Given the description of an element on the screen output the (x, y) to click on. 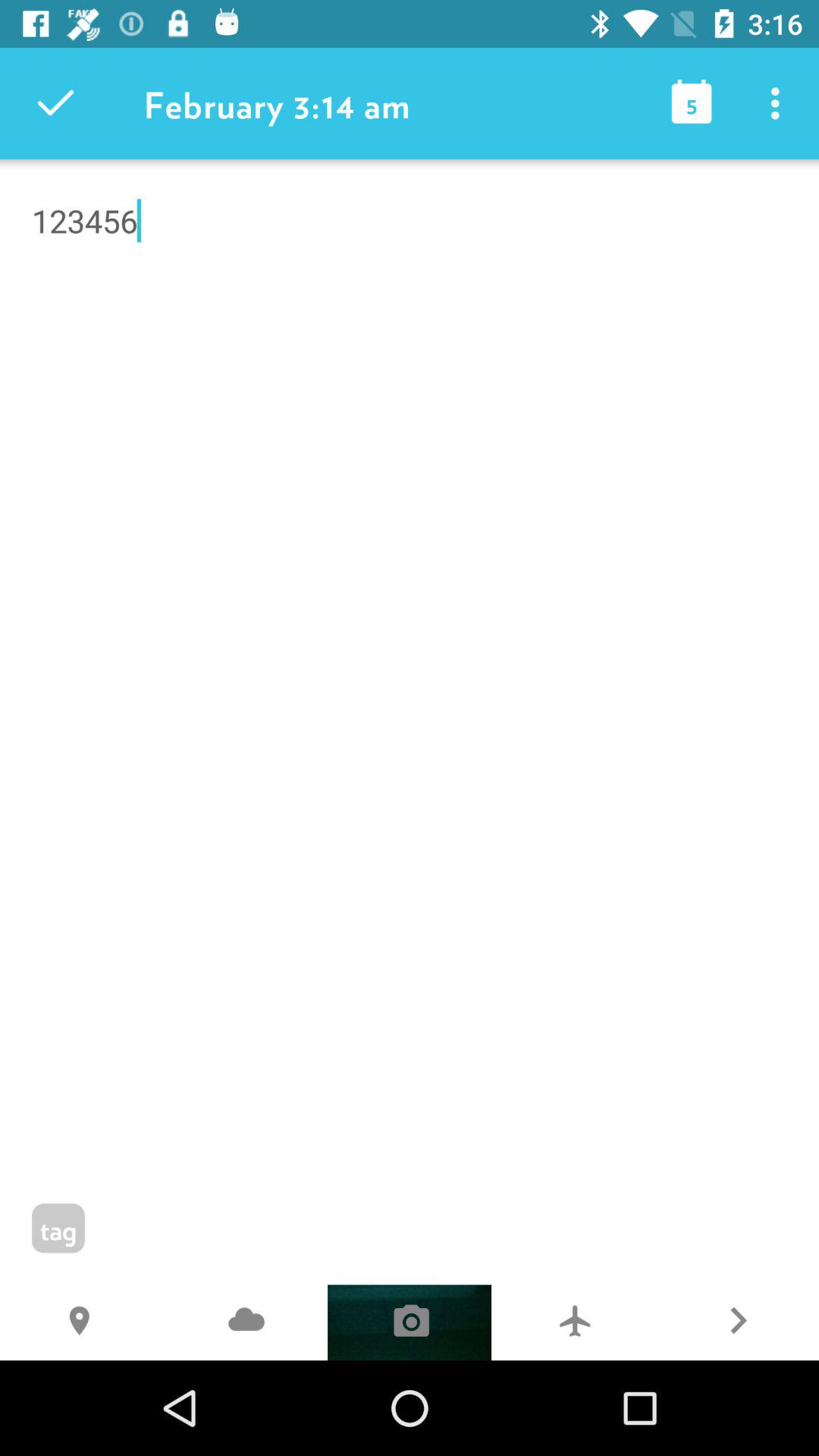
jump until r (737, 1322)
